Given the description of an element on the screen output the (x, y) to click on. 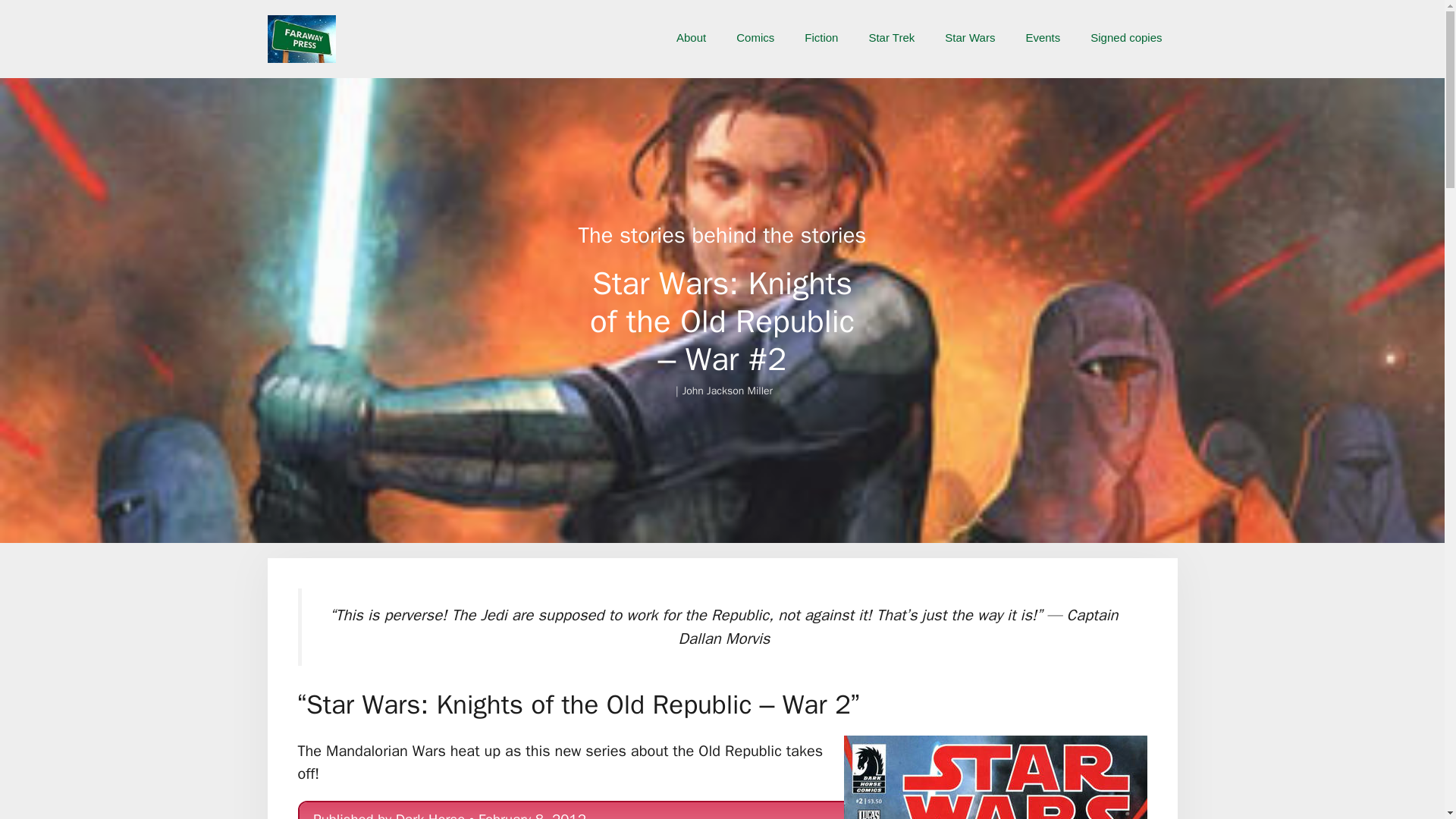
Star Wars (970, 37)
Comics (754, 37)
John Jackson Miller (727, 390)
View all posts by John Jackson Miller (727, 390)
Events (1042, 37)
About (690, 37)
Signed copies (1125, 37)
Star Trek (891, 37)
Fiction (821, 37)
